Given the description of an element on the screen output the (x, y) to click on. 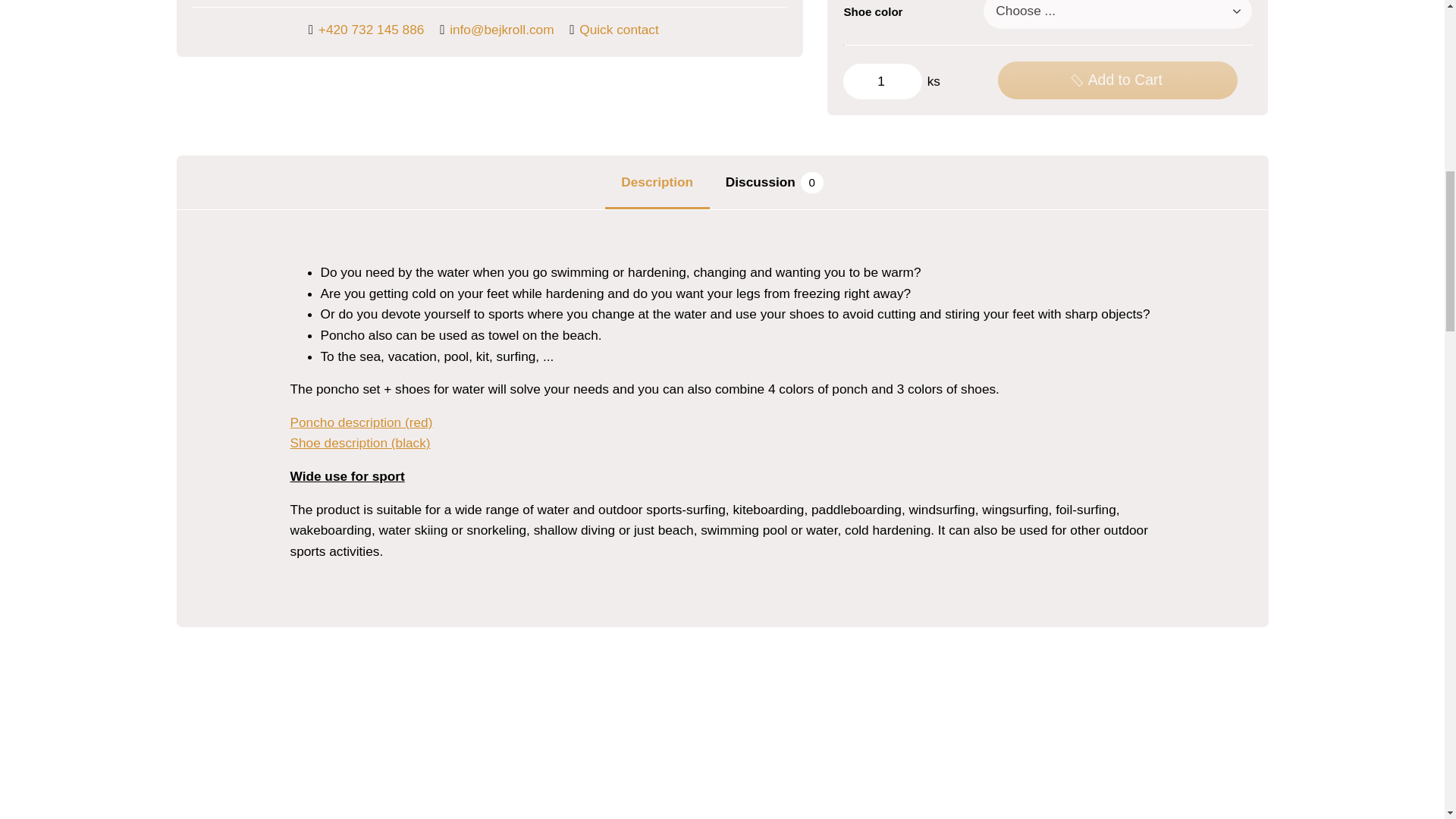
1 (882, 80)
